Given the description of an element on the screen output the (x, y) to click on. 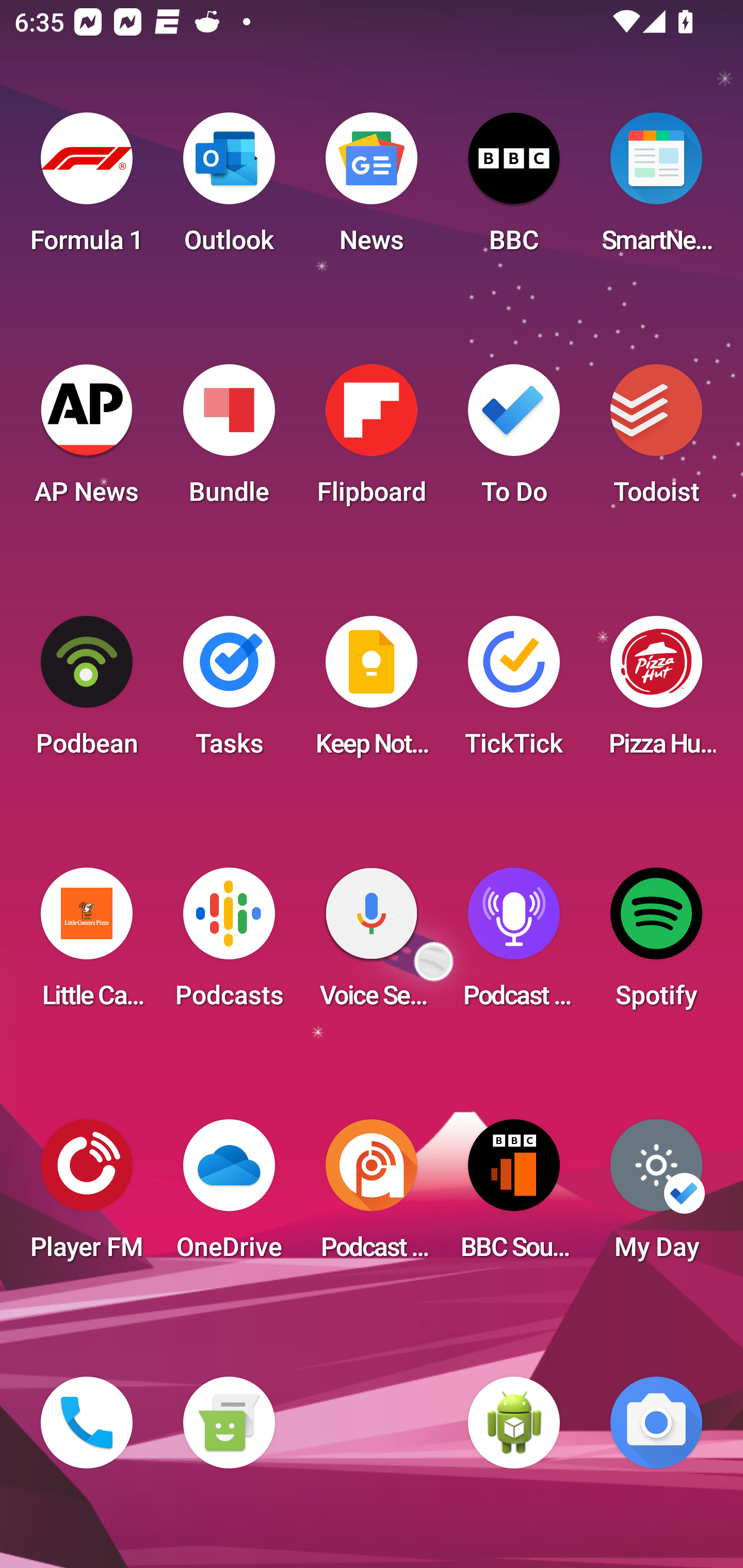
Formula 1 (86, 188)
Outlook (228, 188)
News (371, 188)
BBC (513, 188)
SmartNews (656, 188)
AP News (86, 440)
Bundle (228, 440)
Flipboard (371, 440)
To Do (513, 440)
Todoist (656, 440)
Podbean (86, 692)
Tasks (228, 692)
Keep Notes (371, 692)
TickTick (513, 692)
Pizza Hut HK & Macau (656, 692)
Little Caesars Pizza (86, 943)
Podcasts (228, 943)
Voice Search (371, 943)
Podcast Player (513, 943)
Spotify (656, 943)
Player FM (86, 1195)
OneDrive (228, 1195)
Podcast Addict (371, 1195)
BBC Sounds (513, 1195)
My Day (656, 1195)
Phone (86, 1422)
Messaging (228, 1422)
WebView Browser Tester (513, 1422)
Camera (656, 1422)
